Given the description of an element on the screen output the (x, y) to click on. 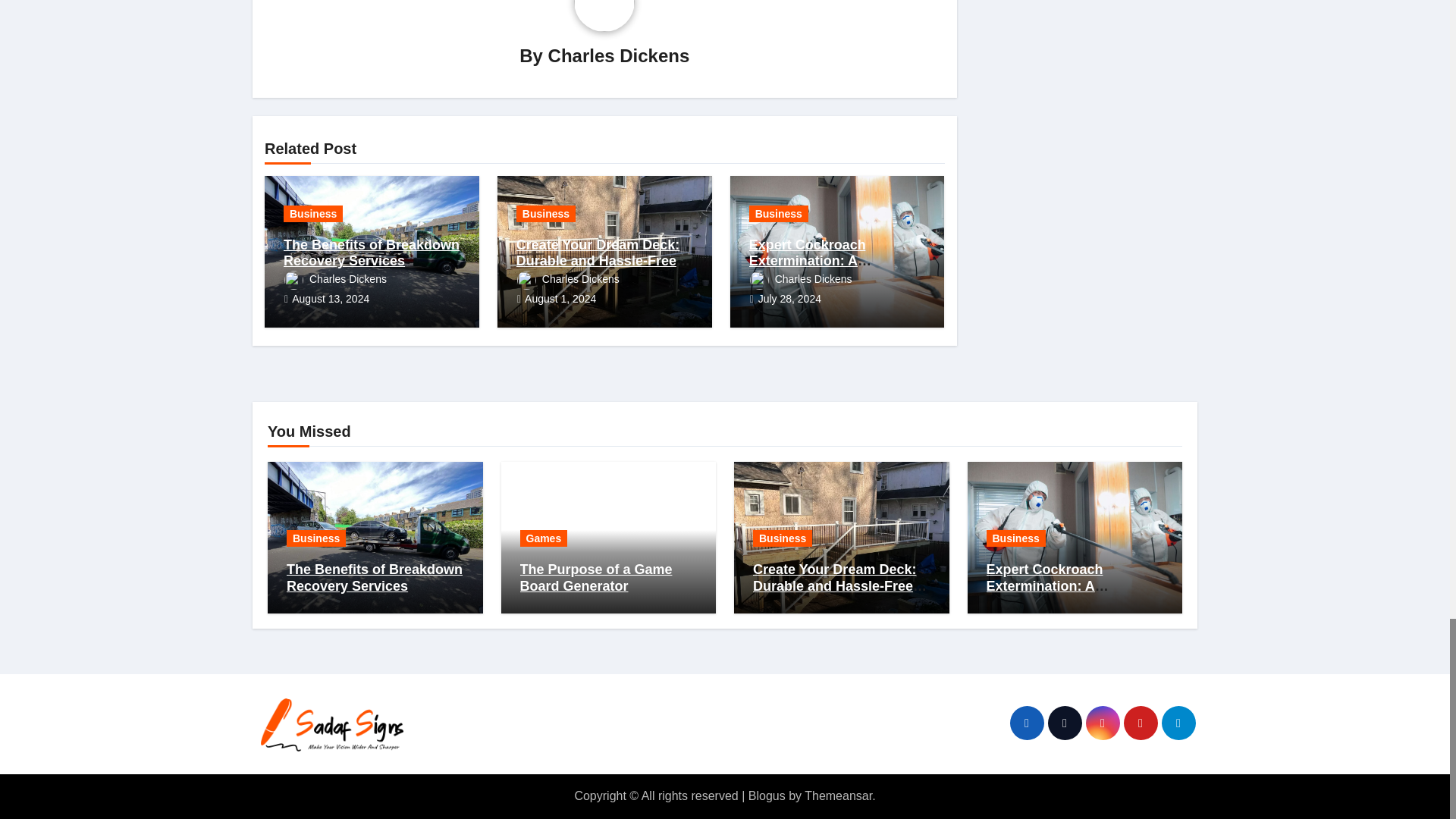
Permalink to: The Benefits of Breakdown Recovery Services (374, 577)
Permalink to: The Purpose of a Game Board Generator (595, 577)
Permalink to: The Benefits of Breakdown Recovery Services (371, 253)
